Given the description of an element on the screen output the (x, y) to click on. 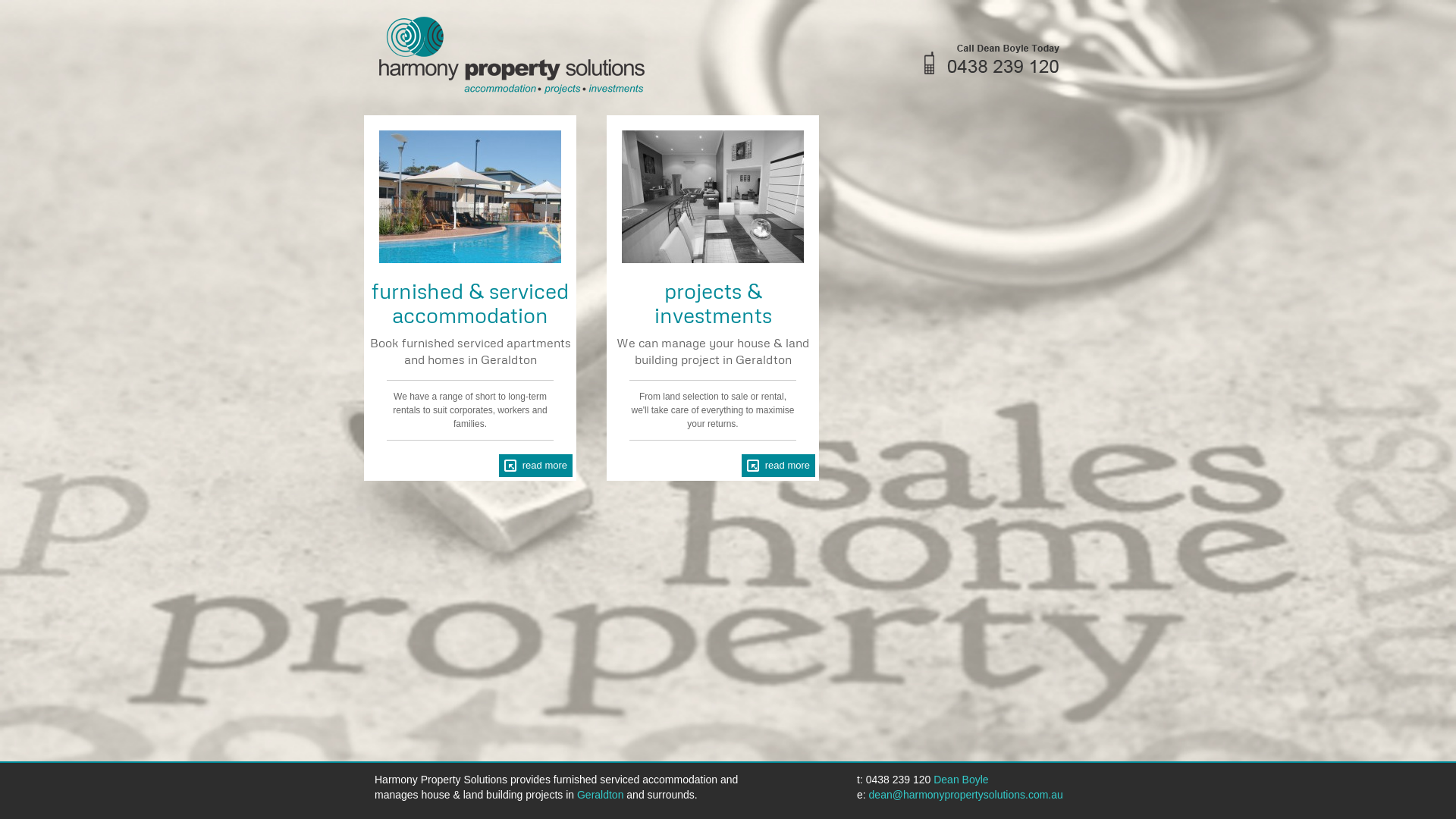
Dean Boyle Element type: text (960, 779)
Geraldton Element type: text (600, 794)
dean@harmonypropertysolutions.com.au Element type: text (966, 794)
